Given the description of an element on the screen output the (x, y) to click on. 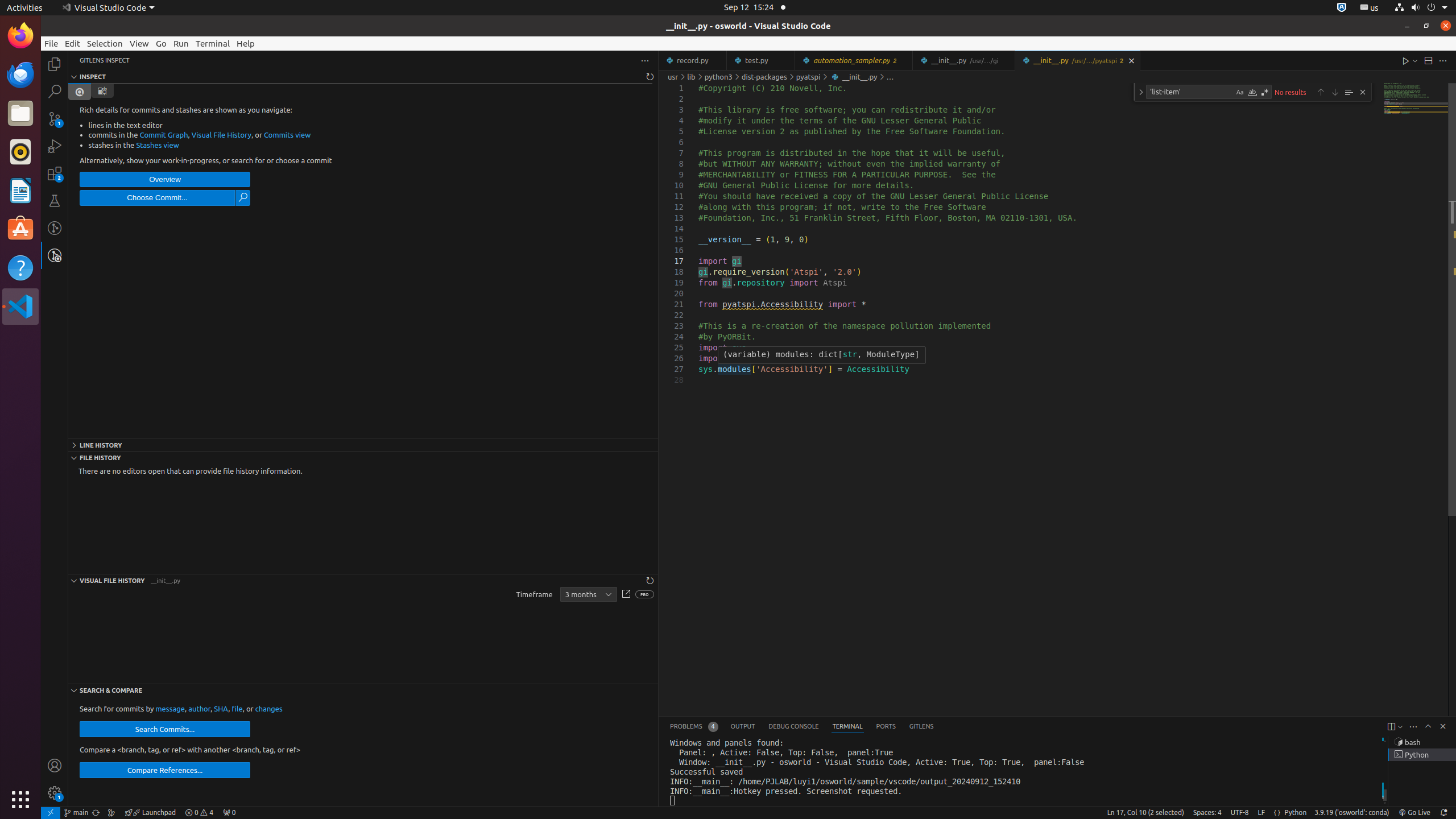
Use Regular Expression (Alt+R) Element type: check-box (1264, 91)
test.py Element type: page-tab (760, 60)
Line History Section Element type: push-button (363, 444)
Refresh Element type: push-button (649, 580)
Editor Language Status: Auto Import Completions: false Element type: push-button (1277, 812)
